Given the description of an element on the screen output the (x, y) to click on. 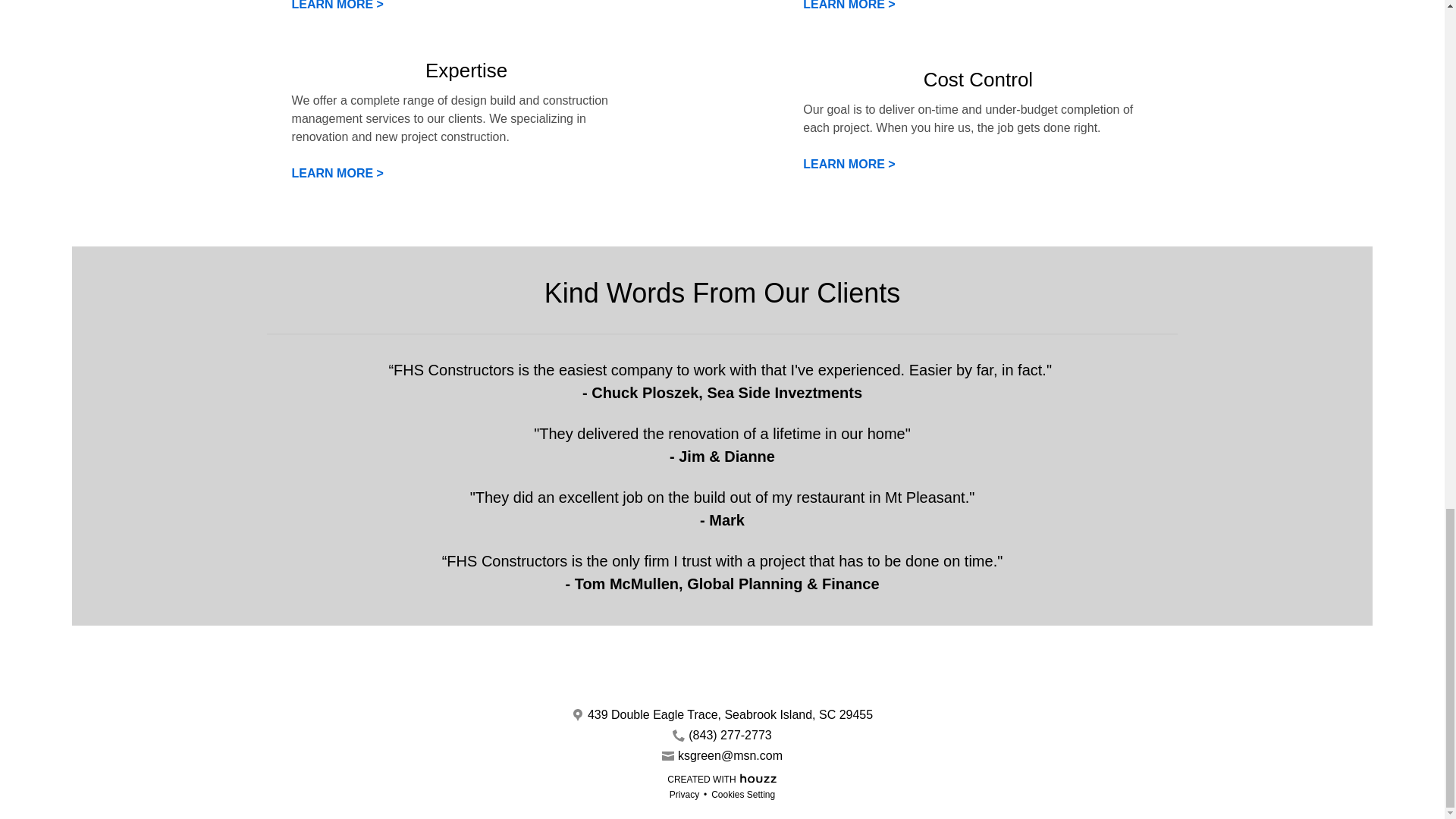
Cookies Setting (742, 794)
Houzz (758, 776)
CREATED WITHHouzz (722, 778)
439 Double Eagle Trace, Seabrook Island, SC 29455 (730, 714)
Privacy (683, 794)
